Given the description of an element on the screen output the (x, y) to click on. 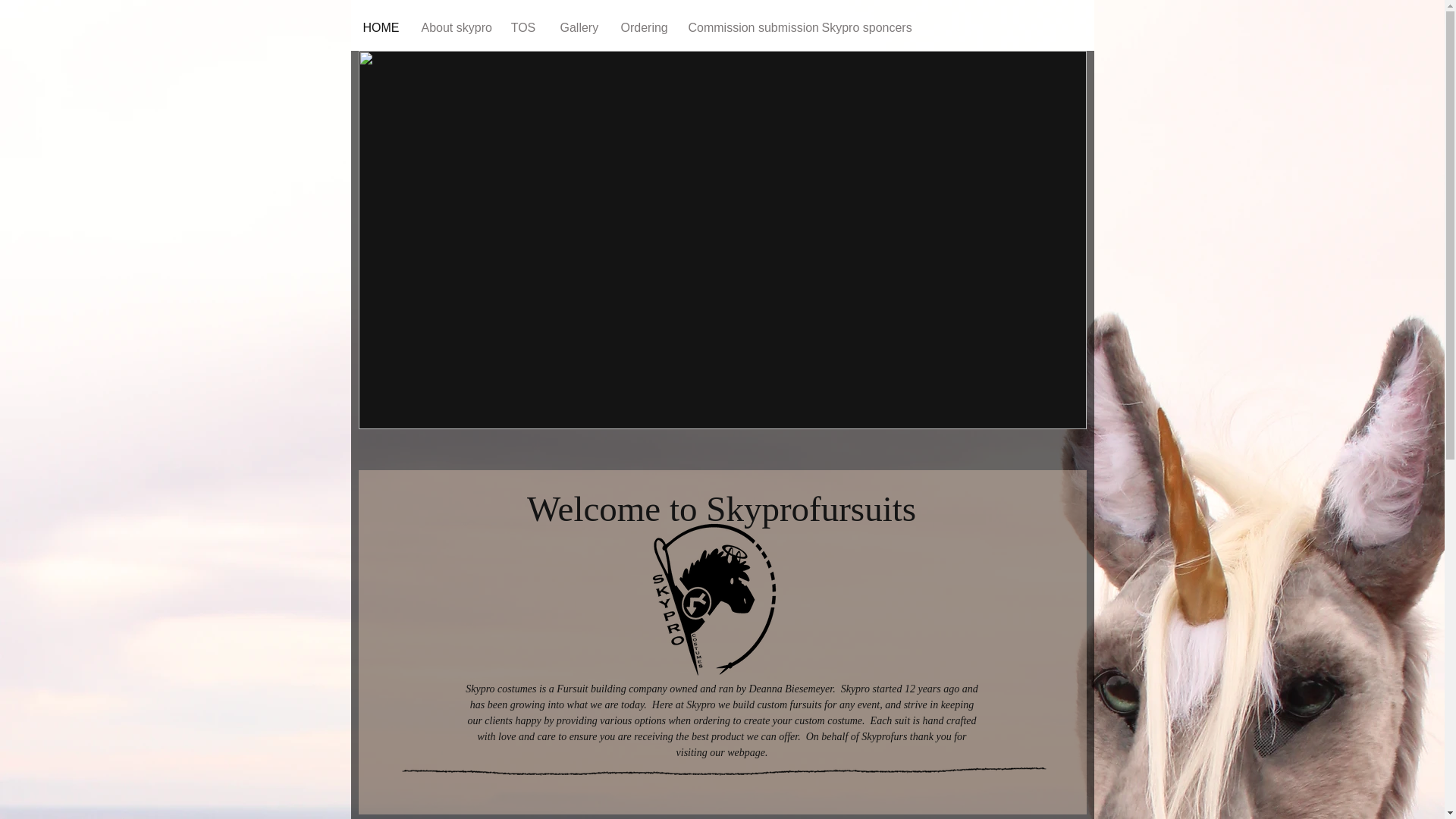
TOS (522, 27)
About skypro (453, 27)
HOME (380, 27)
Skypro sponcers (860, 27)
Ordering (641, 27)
Gallery (577, 27)
Commission submission (743, 27)
